Given the description of an element on the screen output the (x, y) to click on. 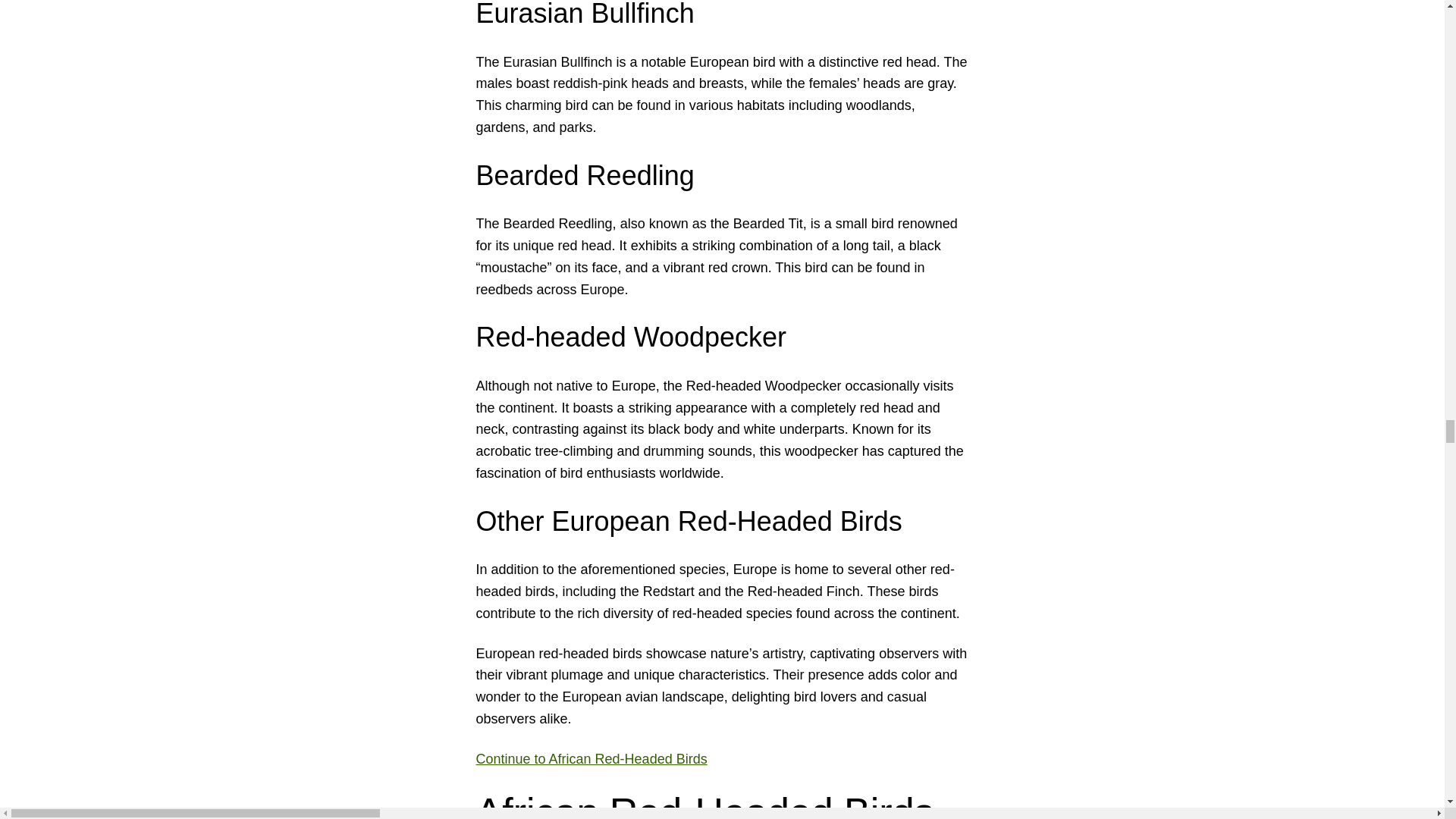
Continue to African Red-Headed Birds (591, 758)
